Given the description of an element on the screen output the (x, y) to click on. 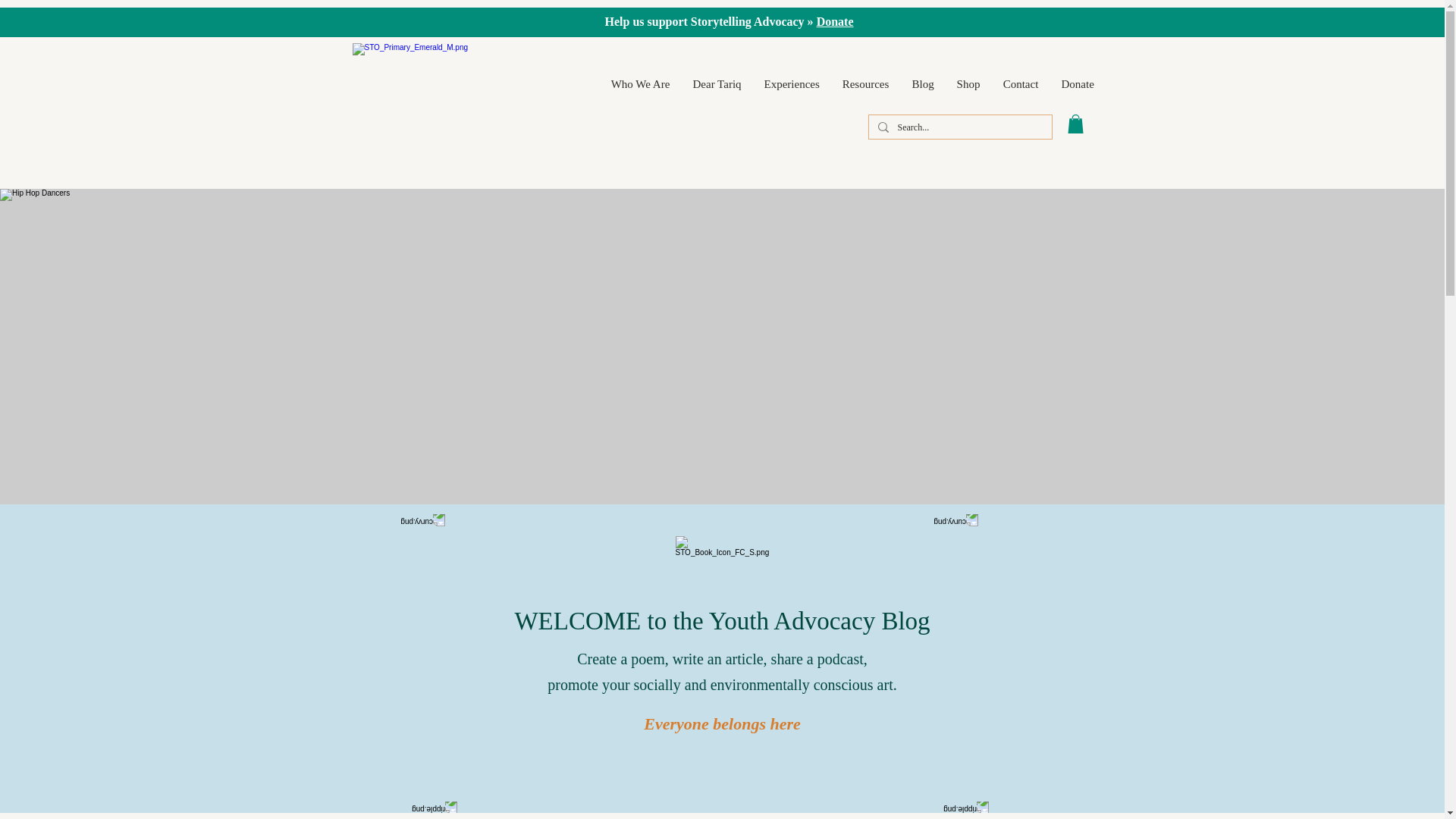
Who We Are (639, 84)
Donate (1077, 84)
Contact (1020, 84)
Shop (967, 84)
Donate (834, 21)
Dear Tariq (716, 84)
Experiences (790, 84)
Blog (922, 84)
Resources (866, 84)
